Given the description of an element on the screen output the (x, y) to click on. 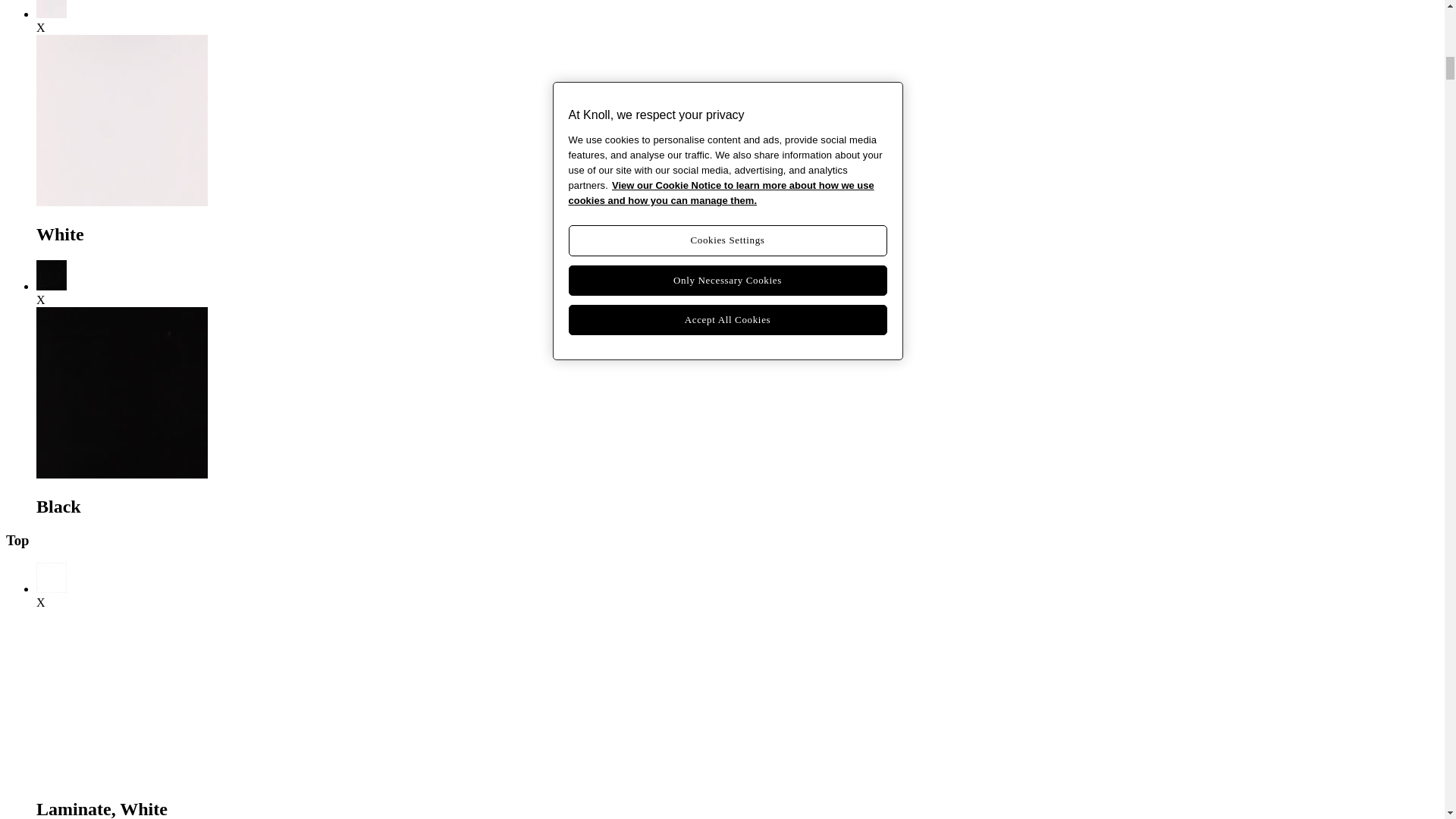
Laminate, White (51, 588)
White (51, 13)
Black (51, 286)
